Given the description of an element on the screen output the (x, y) to click on. 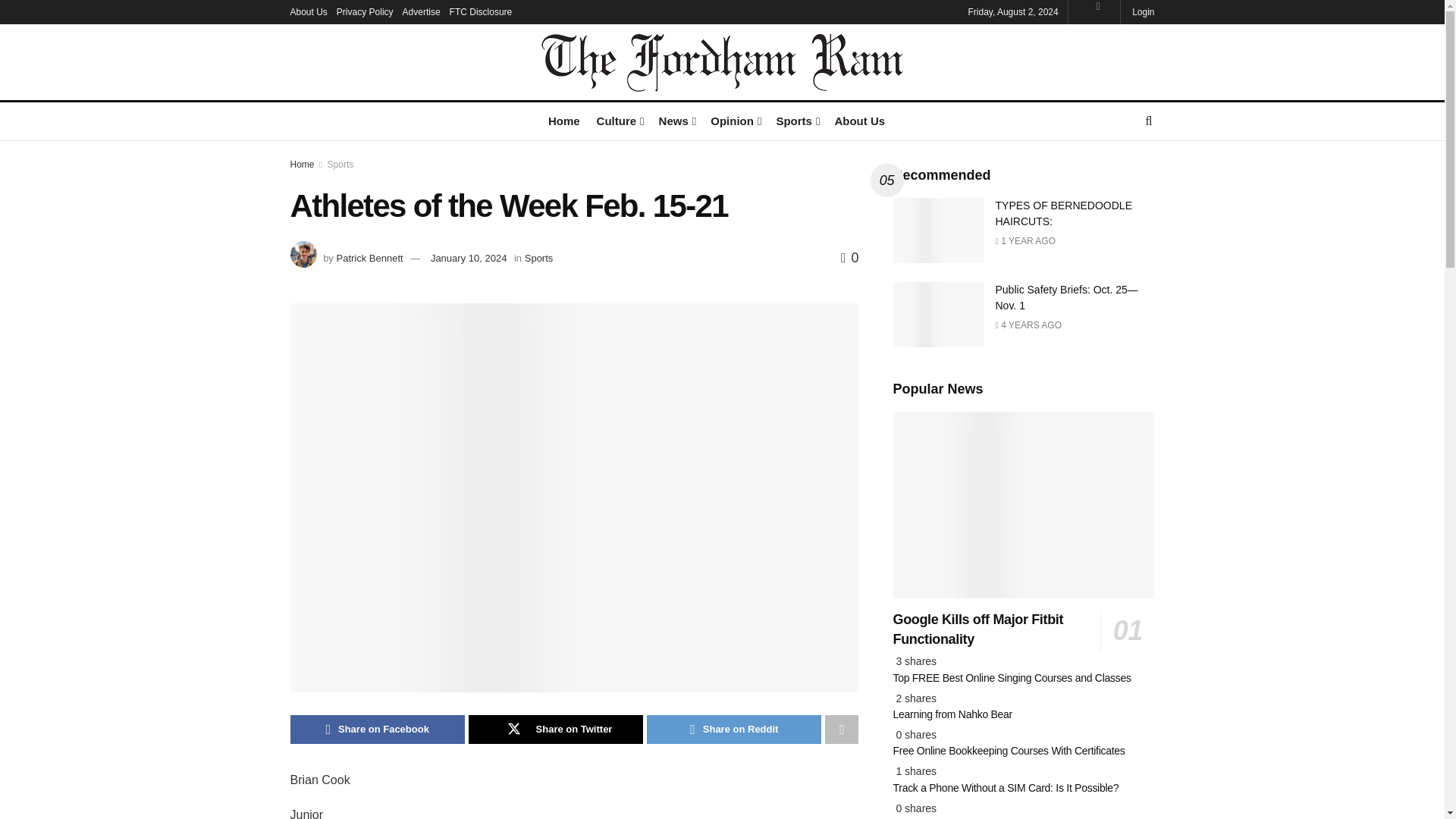
Advertise (422, 12)
Home (563, 120)
Sports (796, 120)
Culture (619, 120)
News (676, 120)
Login (1141, 12)
Opinion (734, 120)
About Us (307, 12)
Privacy Policy (364, 12)
FTC Disclosure (480, 12)
